Given the description of an element on the screen output the (x, y) to click on. 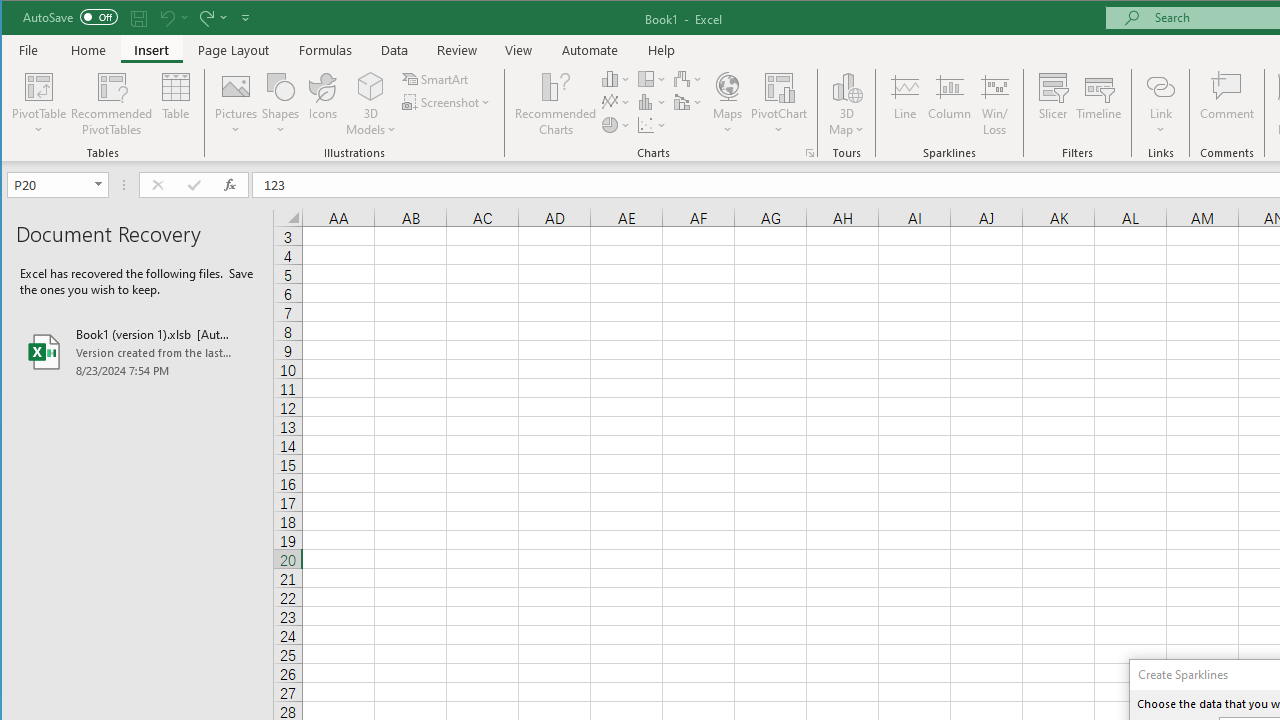
Insert Column or Bar Chart (616, 78)
Screenshot (447, 101)
PivotChart (779, 104)
PivotChart (779, 86)
Insert Combo Chart (688, 101)
Recommended Charts (809, 152)
SmartArt... (436, 78)
3D Models (371, 104)
Insert Statistic Chart (652, 101)
